Given the description of an element on the screen output the (x, y) to click on. 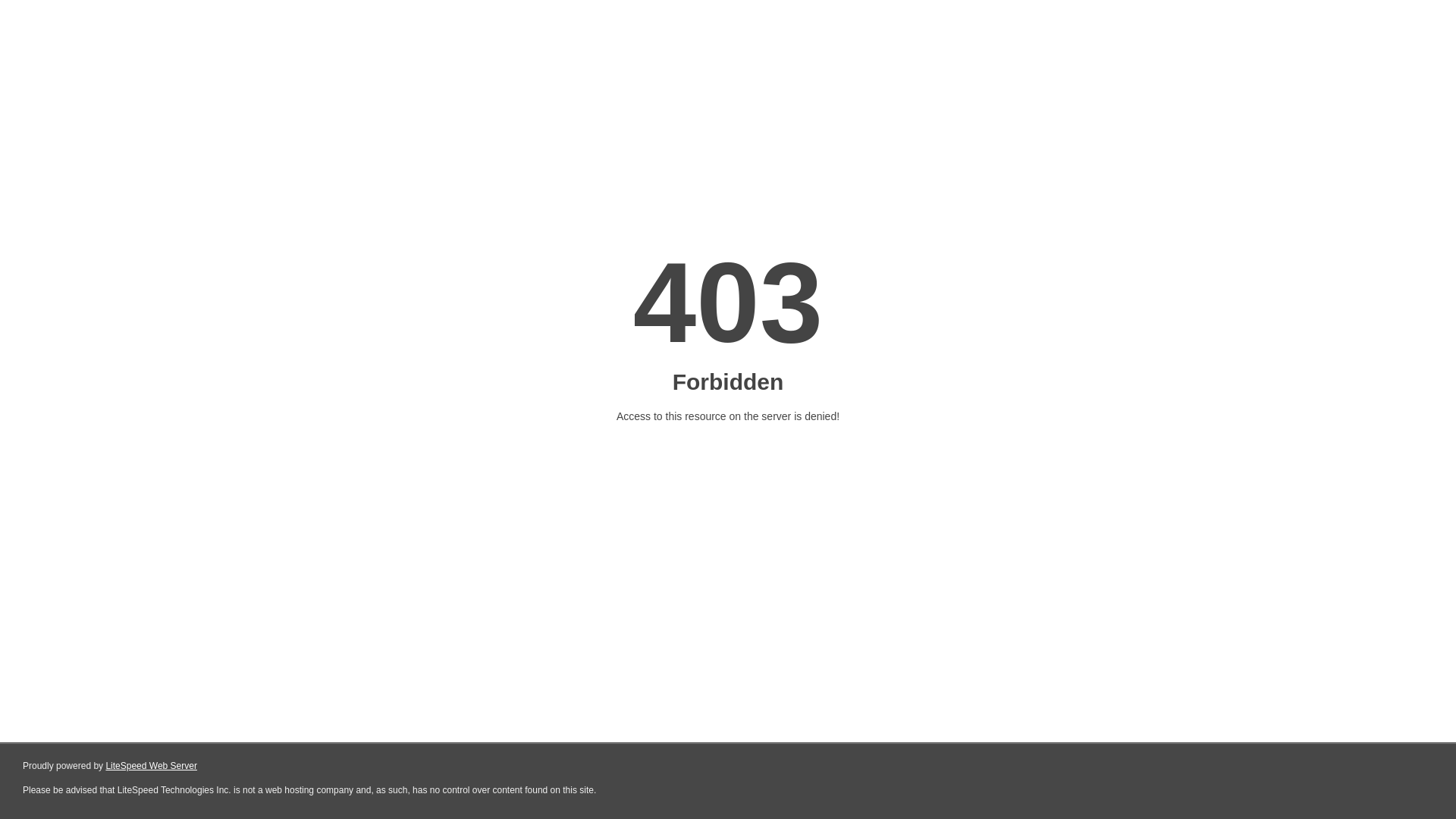
LiteSpeed Web Server (150, 765)
